Given the description of an element on the screen output the (x, y) to click on. 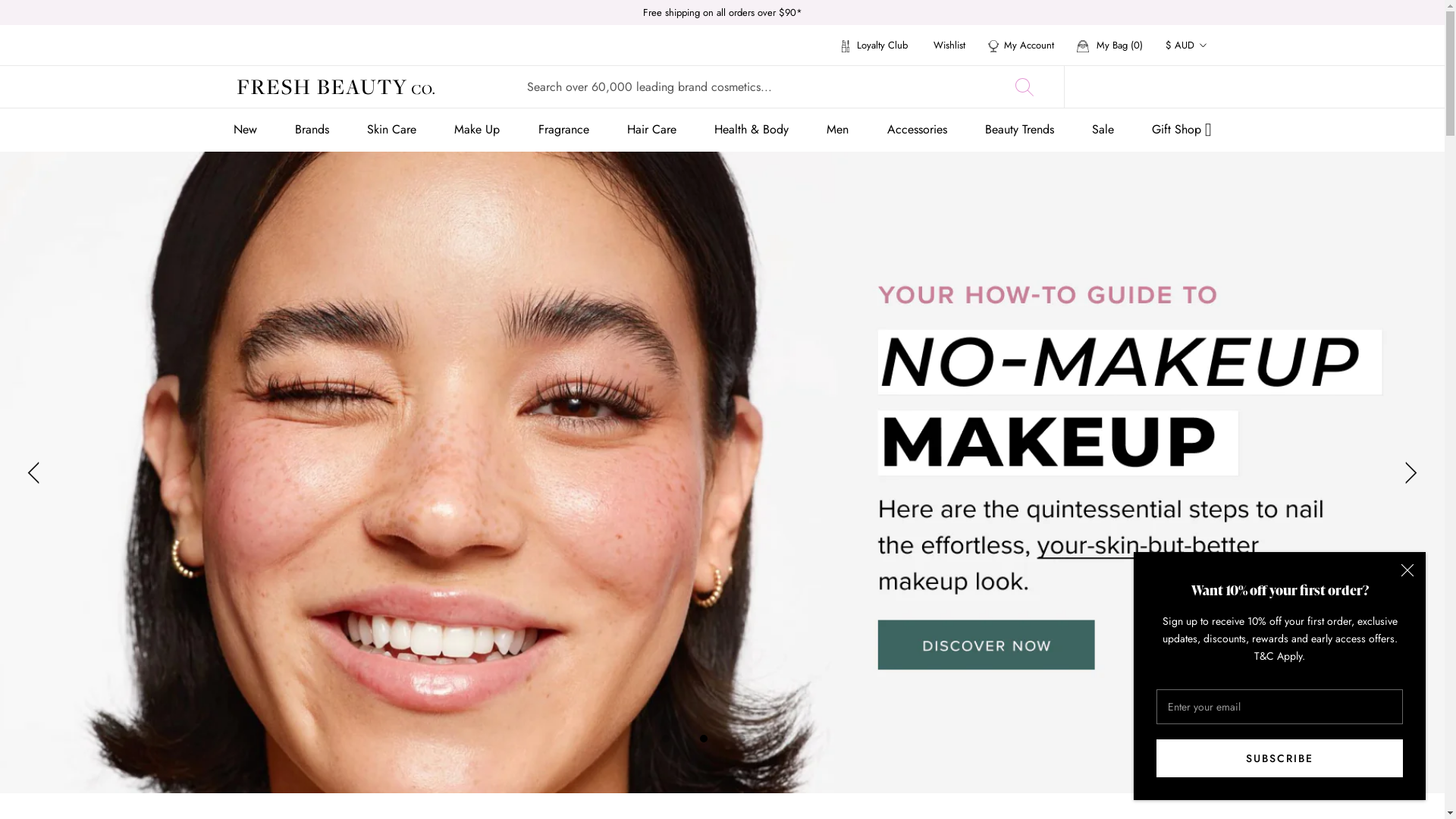
Make Up
Make Up Element type: text (476, 129)
Fragrance
Fragrance Element type: text (563, 129)
Beauty Trends
Beauty Trends Element type: text (1019, 129)
Health & Body
Health & Body Element type: text (751, 129)
Sale
Sale Element type: text (1102, 129)
Brands
Brands Element type: text (311, 129)
SUBSCRIBE Element type: text (1279, 758)
New
New Element type: text (245, 129)
My Bag (0) Element type: text (1109, 44)
AUD Element type: text (1203, 83)
Hair Care
Hair Care Element type: text (651, 129)
NZD Element type: text (1203, 143)
My Account Element type: text (1021, 44)
Free shipping on all orders over $90* Element type: text (722, 12)
$ AUD Element type: text (1185, 44)
USD Element type: text (1203, 174)
Wishlist Element type: text (949, 44)
GBP Element type: text (1203, 113)
Accessories
Accessories Element type: text (917, 129)
Men
Men Element type: text (837, 129)
Loyalty Club Element type: text (874, 44)
Skin Care
Skin Care Element type: text (391, 129)
